Given the description of an element on the screen output the (x, y) to click on. 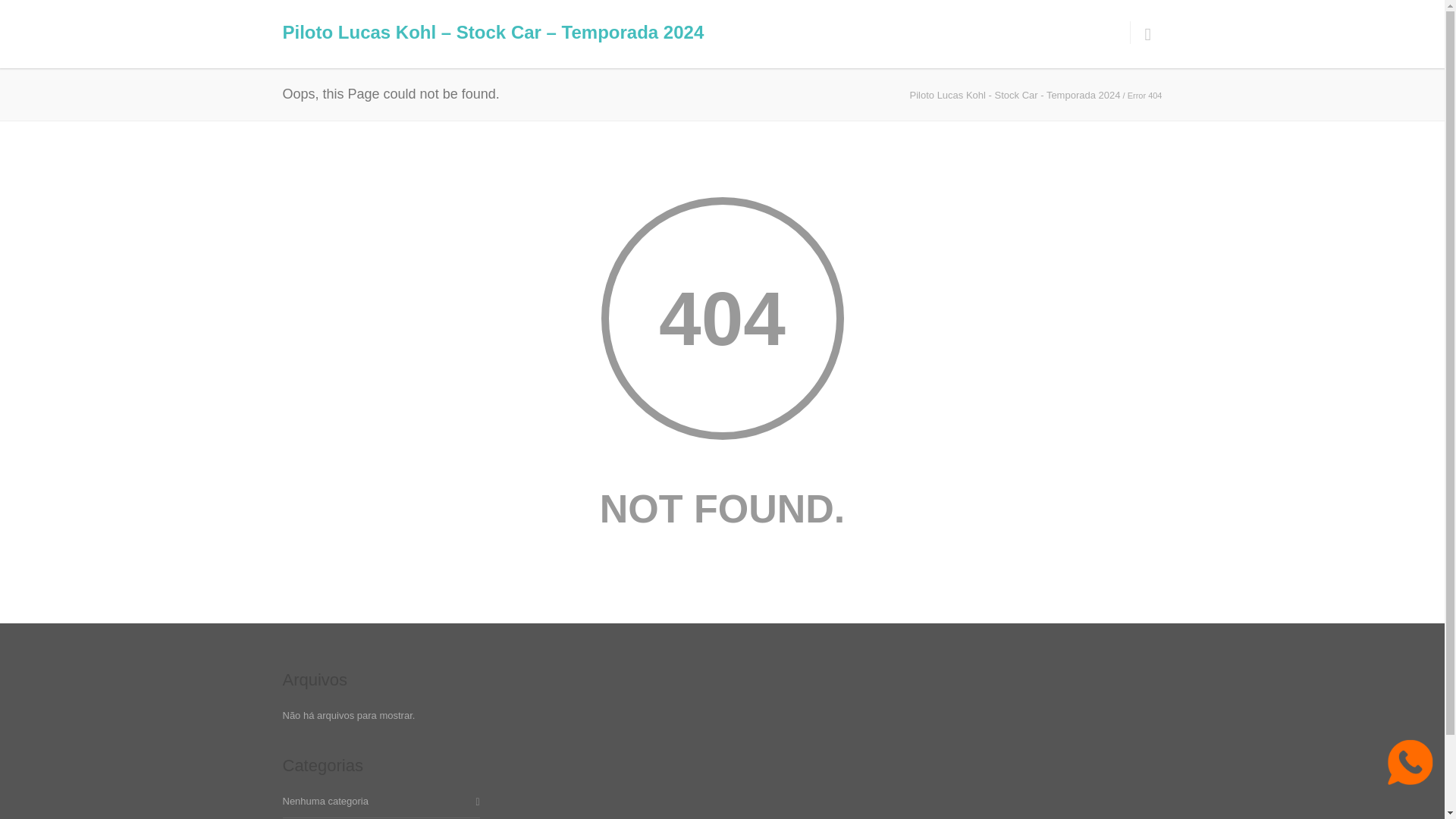
Piloto Lucas Kohl - Stock Car - Temporada 2024 (1015, 94)
